Given the description of an element on the screen output the (x, y) to click on. 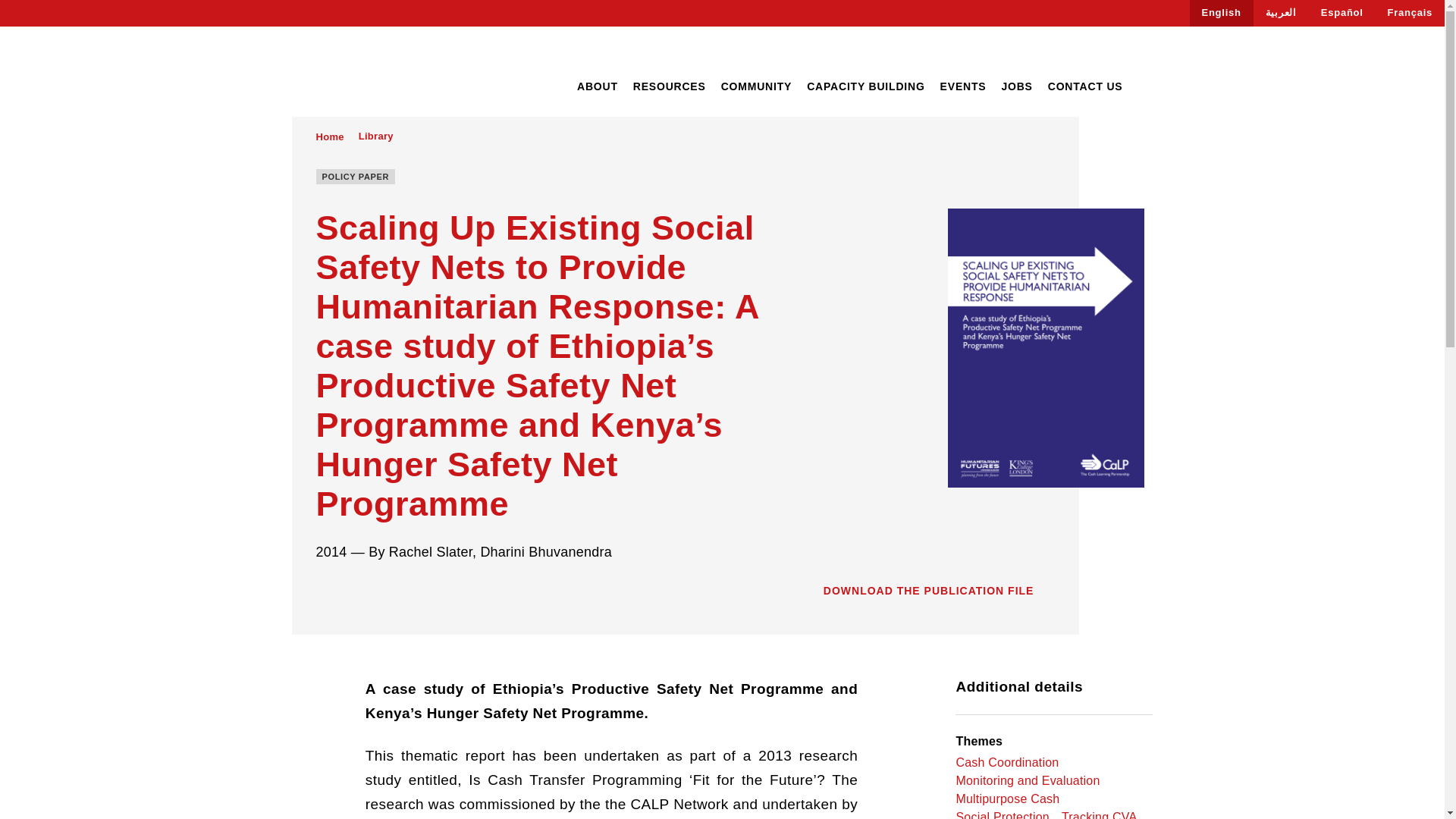
RESOURCES (669, 86)
Share on email (407, 592)
CONTACT US (1085, 86)
Share on Twitter (350, 592)
Go to Library (375, 136)
COMMUNITY (756, 86)
Share on Facebook (321, 592)
JOBS (1016, 86)
Go to homepage (363, 72)
Go to Home (329, 136)
EVENTS (963, 86)
Share on LinkedIn (378, 592)
ABOUT (596, 86)
